Given the description of an element on the screen output the (x, y) to click on. 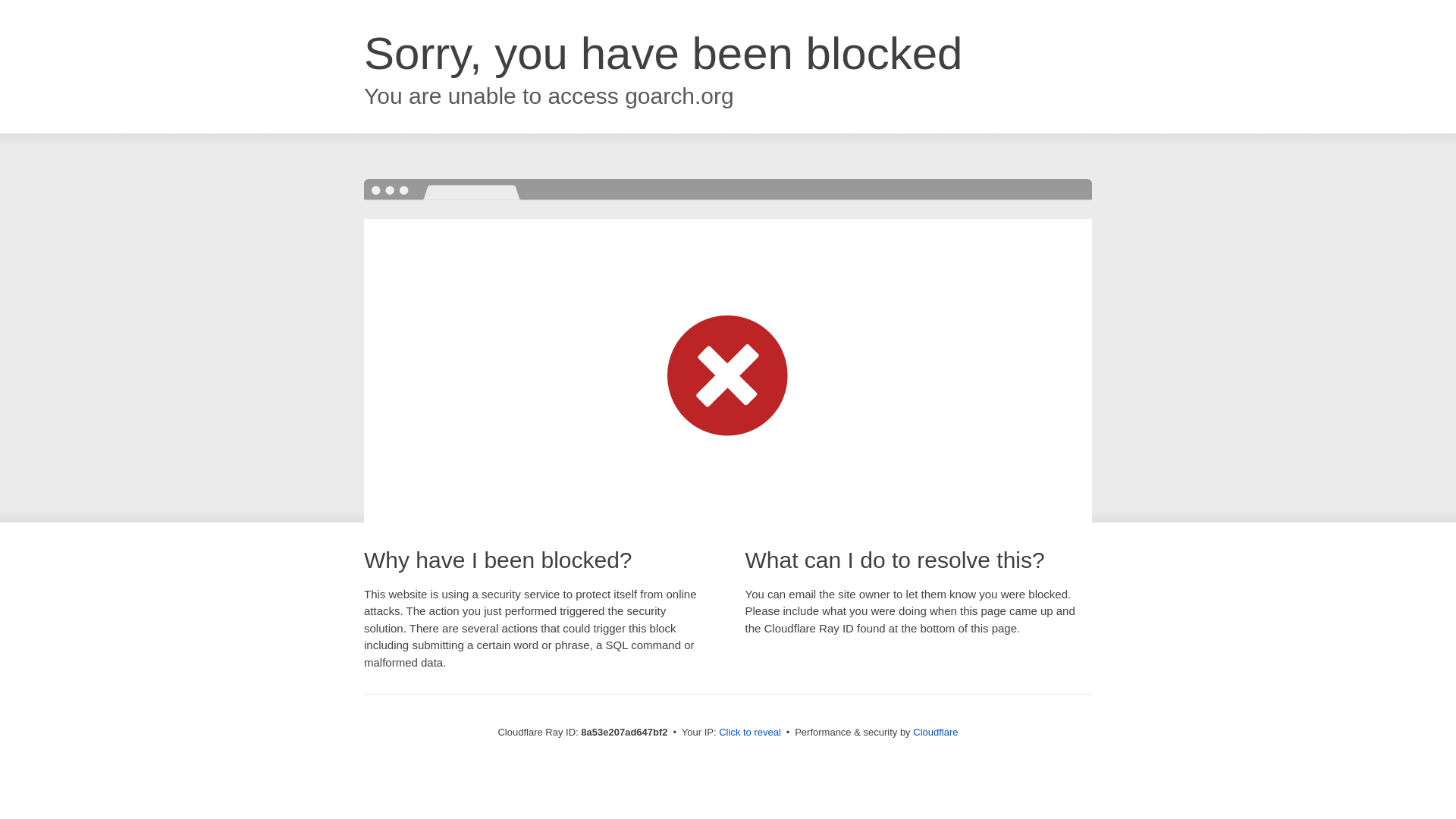
Cloudflare (935, 731)
Click to reveal (749, 732)
